Given the description of an element on the screen output the (x, y) to click on. 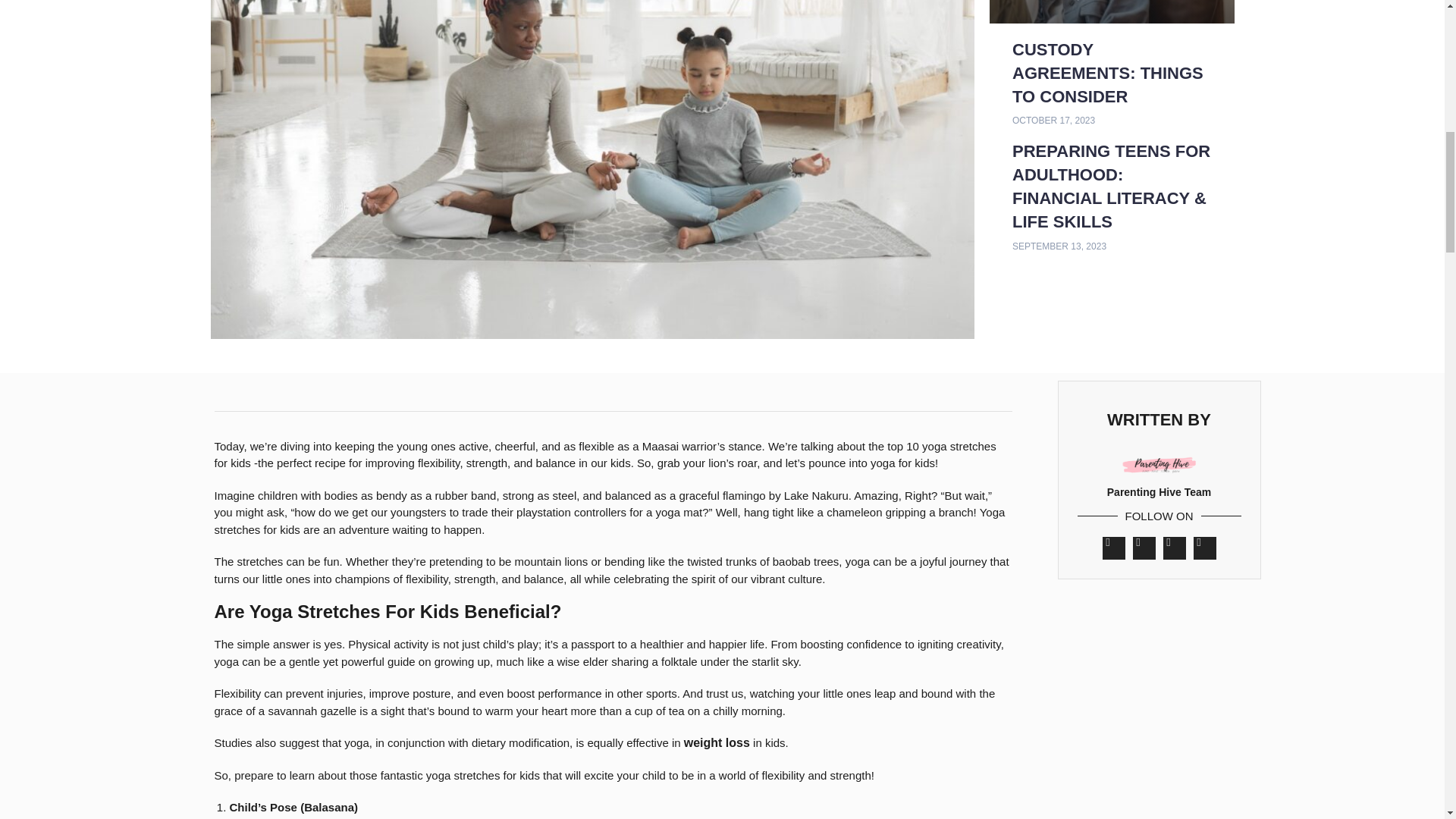
weight loss (716, 742)
CUSTODY AGREEMENTS: THINGS TO CONSIDER (1107, 73)
Custody Agreements: Things to Consider (1107, 73)
